Given the description of an element on the screen output the (x, y) to click on. 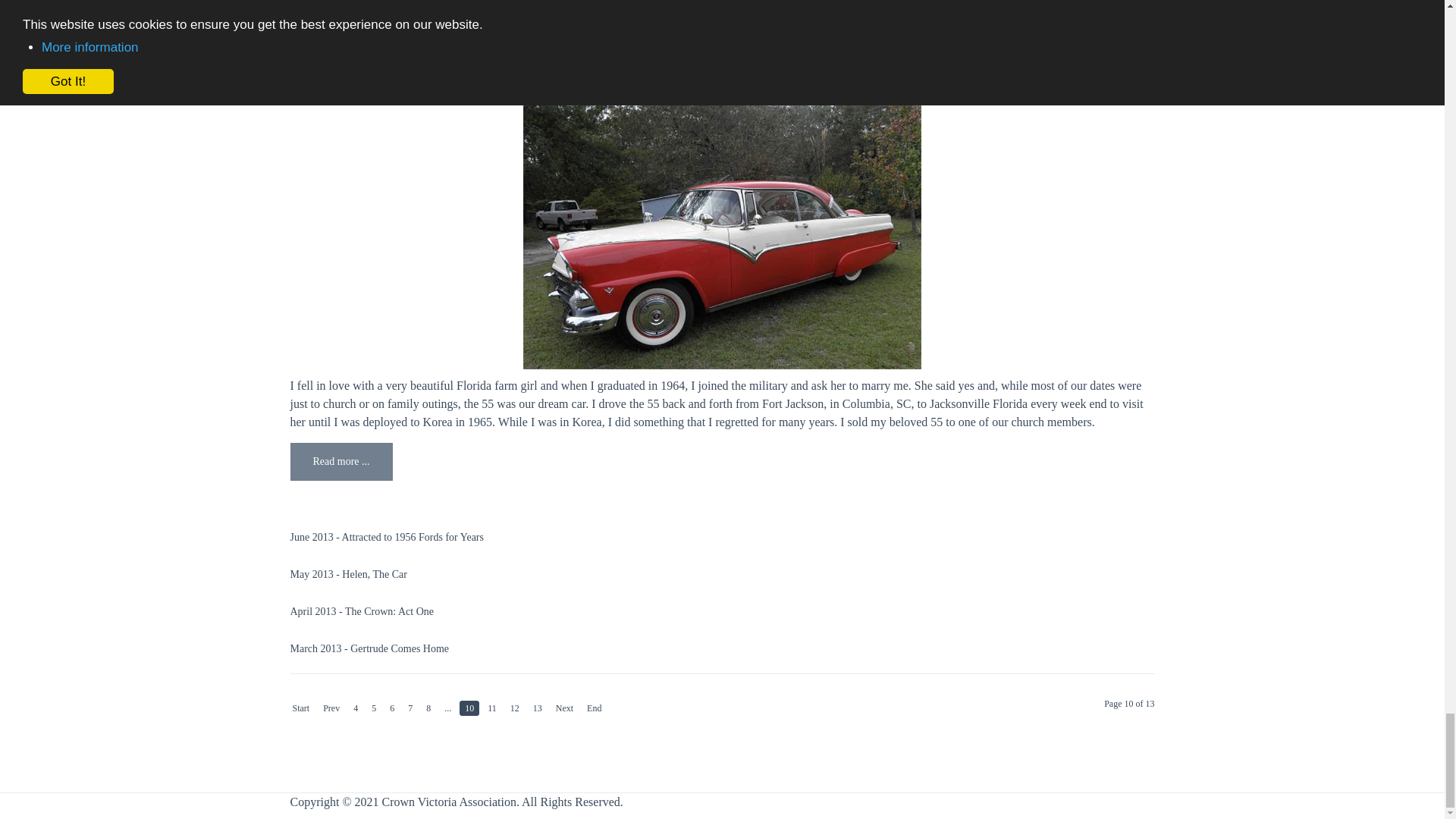
7 (410, 708)
Prev (331, 708)
Next (564, 708)
4 (354, 708)
13 (537, 708)
11 (491, 708)
8 (427, 708)
5 (373, 708)
End (593, 708)
12 (514, 708)
Start (300, 708)
9 (448, 708)
6 (391, 708)
